Given the description of an element on the screen output the (x, y) to click on. 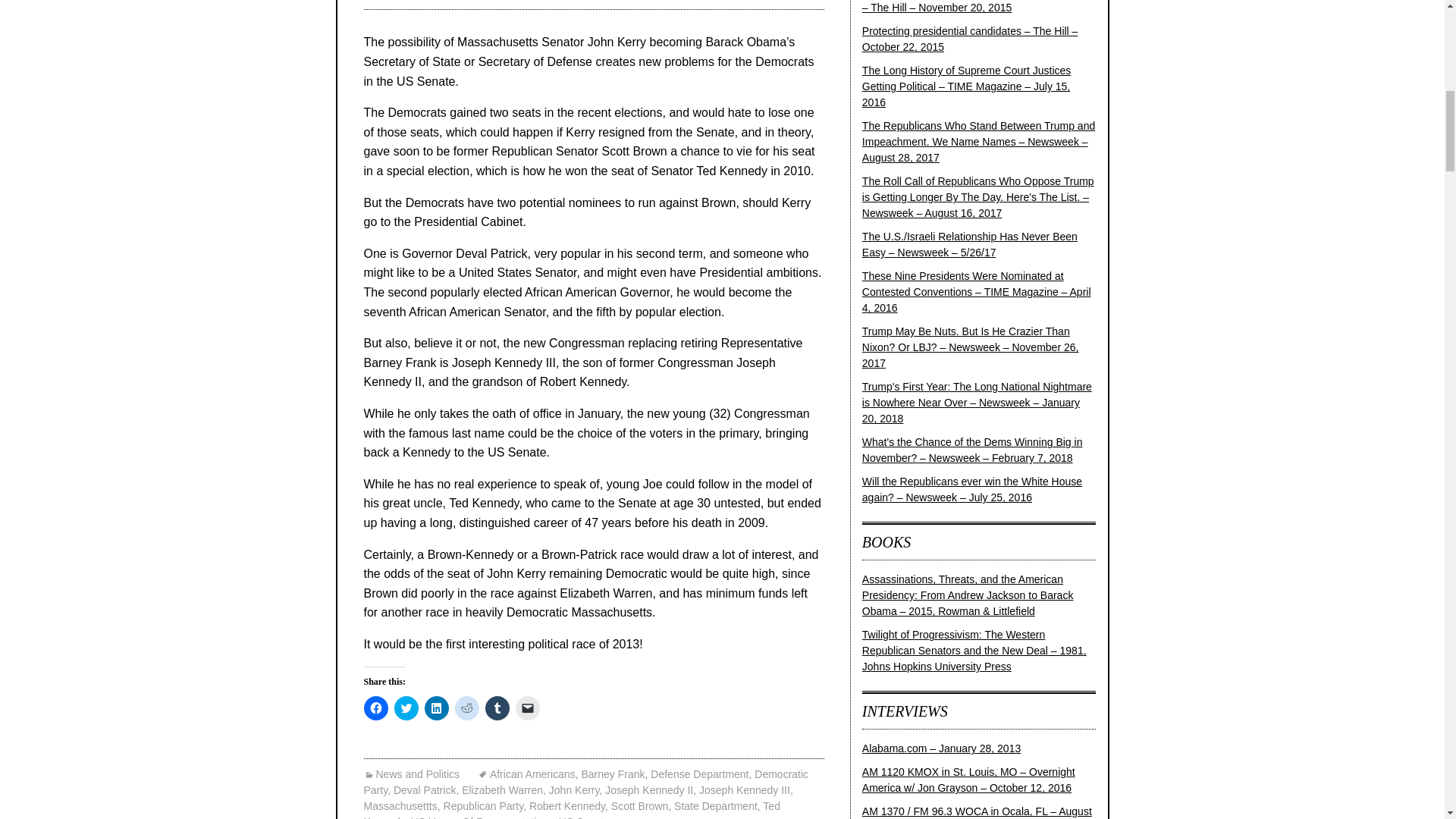
Click to share on Twitter (406, 708)
Click to share on Facebook (376, 708)
News and Politics (412, 774)
